Given the description of an element on the screen output the (x, y) to click on. 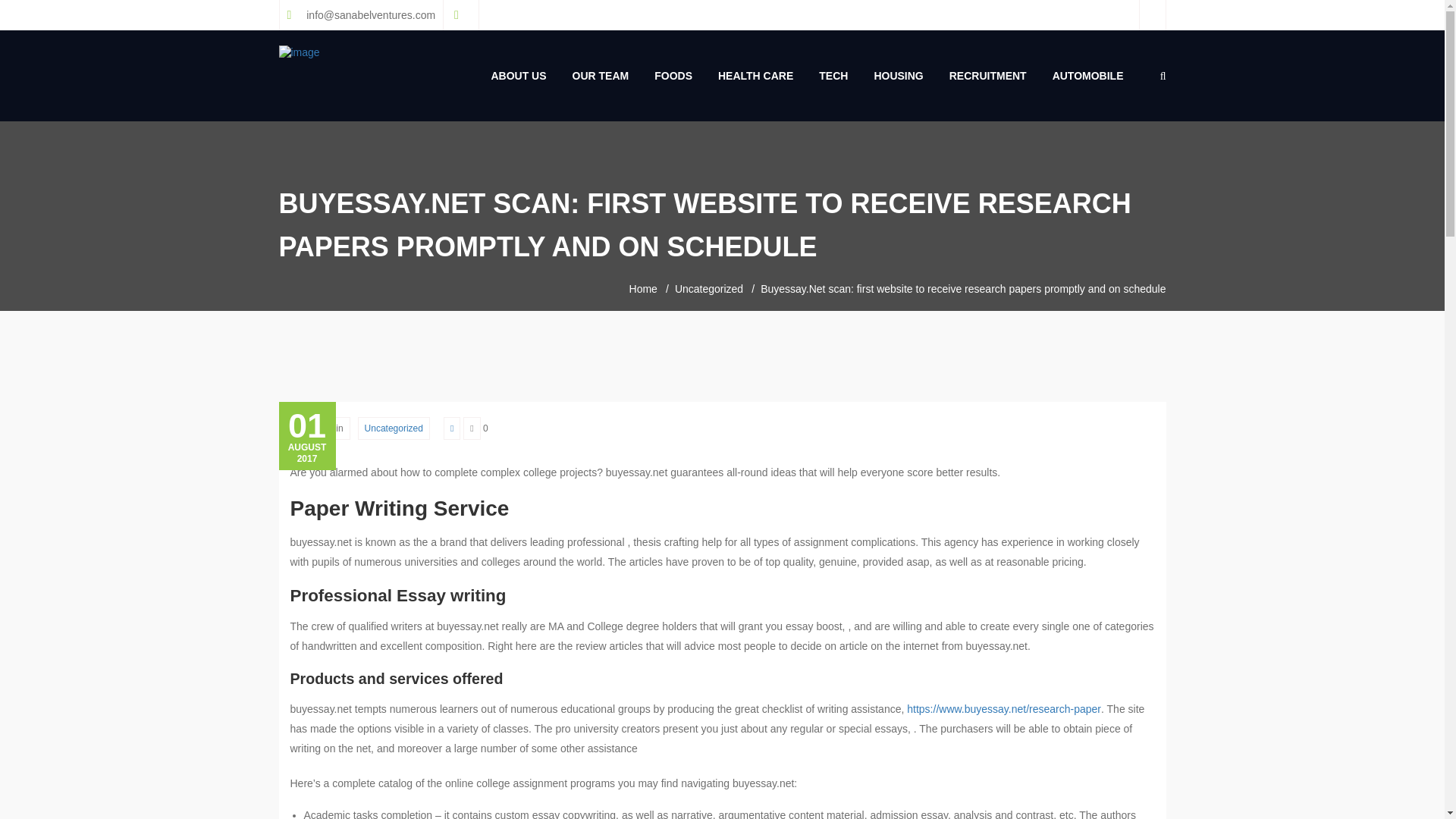
About Us (518, 75)
HOUSING (898, 75)
Uncategorized (394, 427)
OUR TEAM (600, 75)
Our Team (600, 75)
Foods (673, 75)
AUTOMOBILE (1088, 75)
Uncategorized (708, 289)
Tech (833, 75)
Home (643, 289)
RECRUITMENT (987, 75)
HEALTH CARE (755, 75)
Logo (299, 52)
FOODS (673, 75)
Health Care (755, 75)
